Given the description of an element on the screen output the (x, y) to click on. 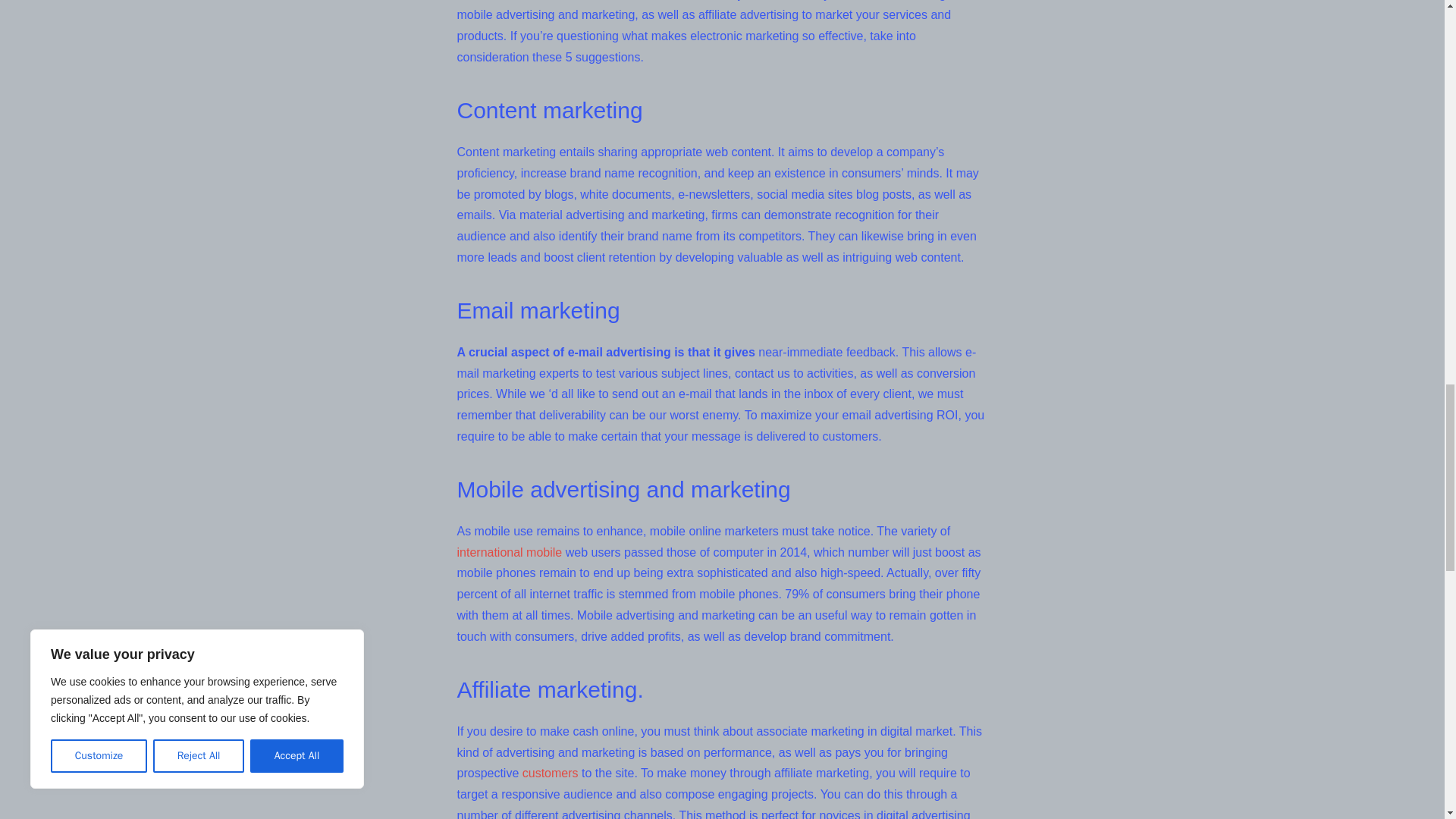
international mobile (509, 552)
customers (550, 772)
